Given the description of an element on the screen output the (x, y) to click on. 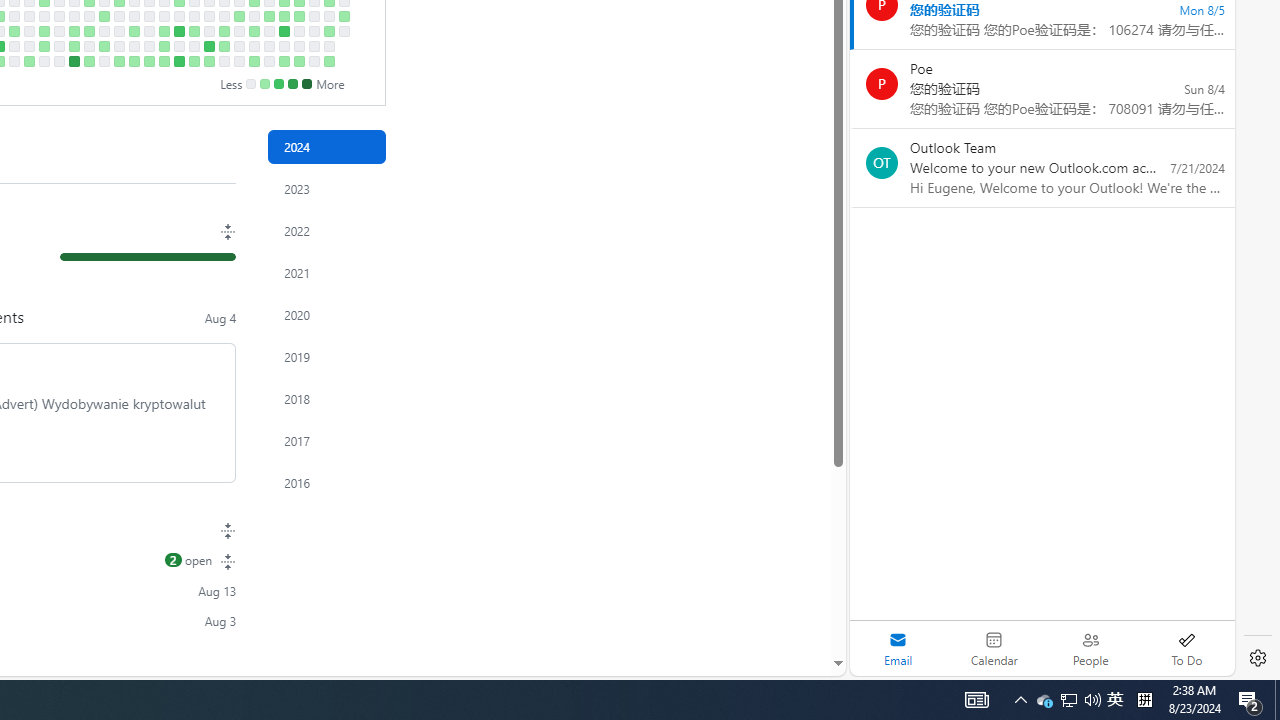
No contributions on May 4th. (104, 61)
No contributions on May 15th. (133, 16)
No contributions on April 11th. (58, 30)
No contributions on April 12th. (58, 46)
No contributions on May 2nd. (104, 30)
No contributions on July 5th. (238, 46)
No contributions on June 29th. (223, 61)
No contributions on August 9th. (314, 46)
3 contributions on March 30th. (28, 61)
1 contribution on May 25th. (148, 61)
2021 (326, 273)
1 contribution on May 18th. (133, 61)
To Do (1186, 648)
2020 (326, 314)
4 contributions on July 13th. (253, 61)
